Given the description of an element on the screen output the (x, y) to click on. 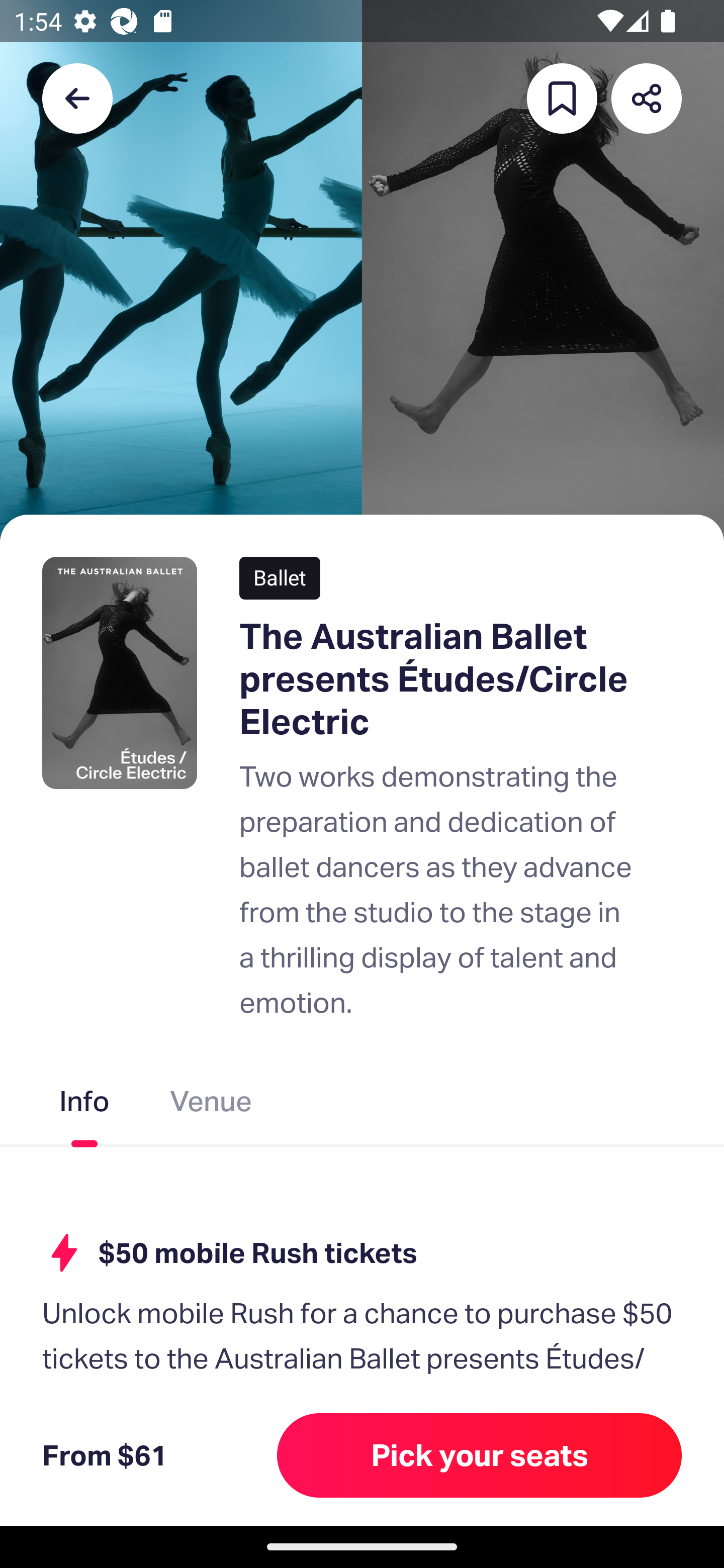
Venue (210, 1105)
Pick your seats (479, 1454)
